Given the description of an element on the screen output the (x, y) to click on. 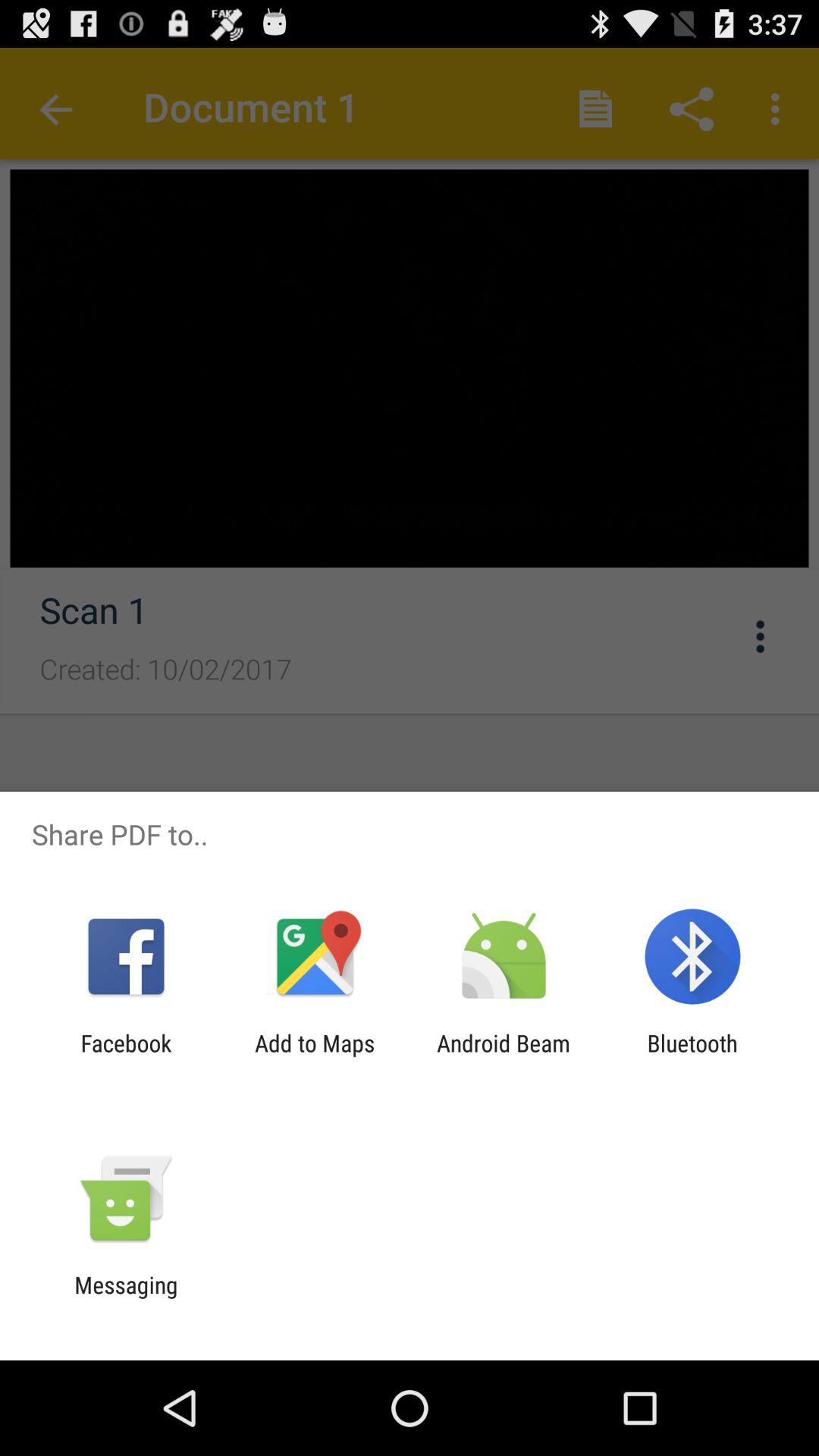
open the item next to facebook app (314, 1056)
